Given the description of an element on the screen output the (x, y) to click on. 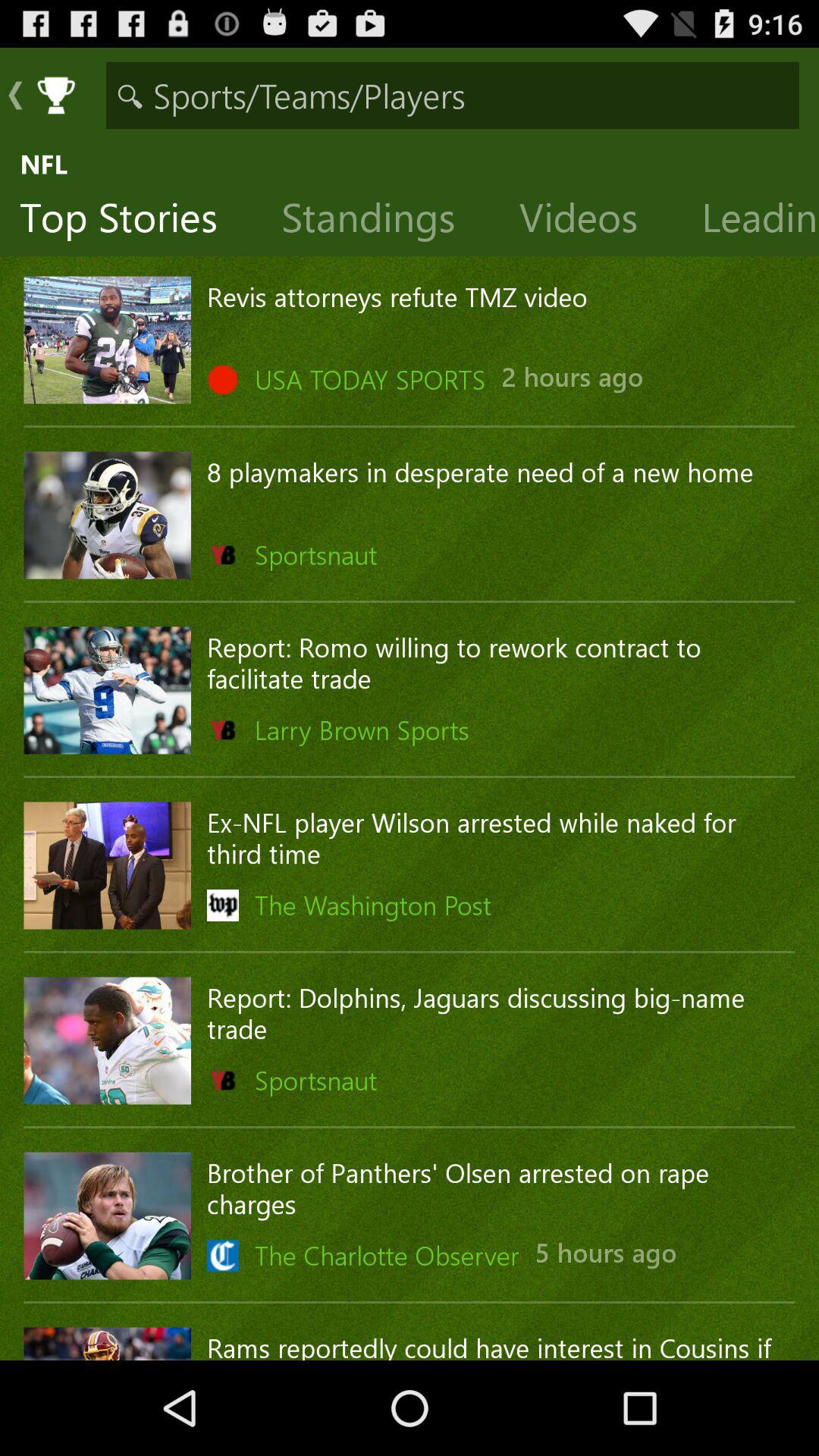
turn on item to the right of the standings item (590, 220)
